Given the description of an element on the screen output the (x, y) to click on. 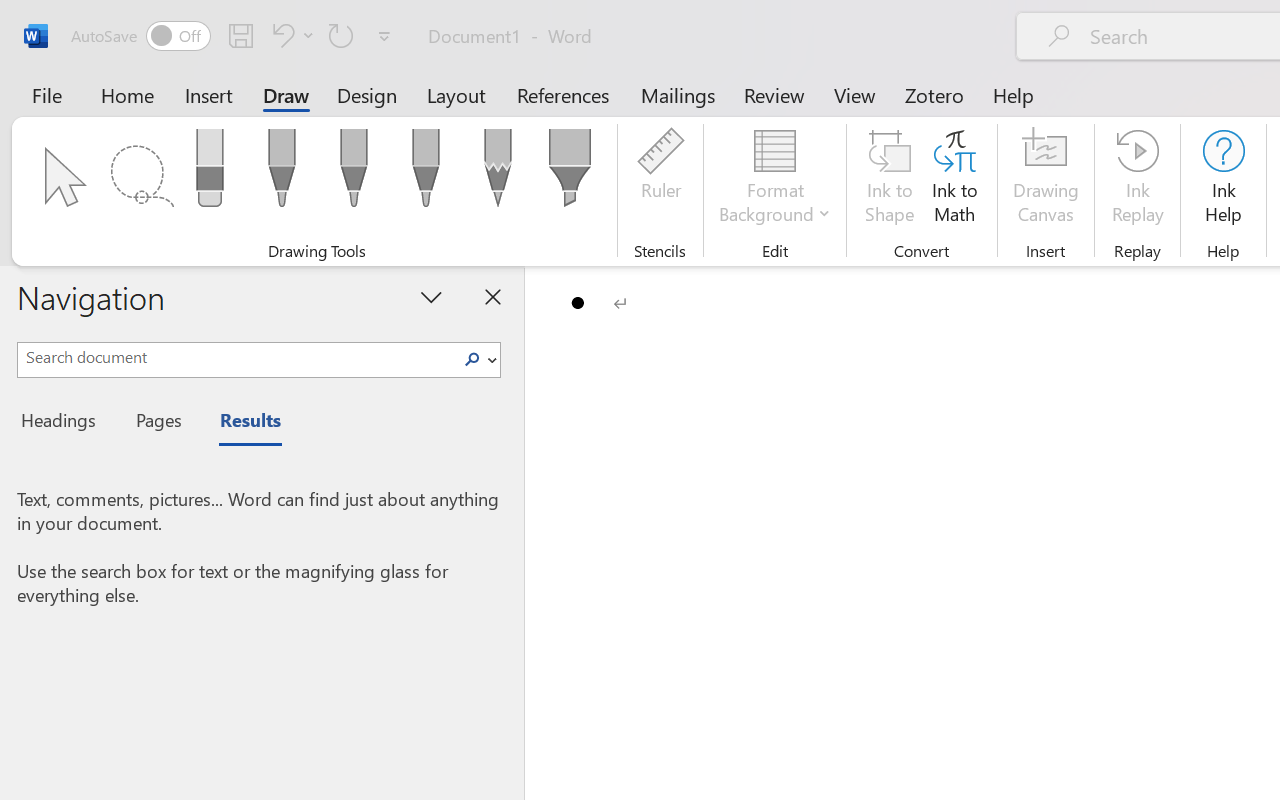
Ink Help (1223, 179)
Headings (64, 423)
Undo Bullet Default (280, 35)
Pencil: Gray, 1 mm (497, 173)
Highlighter: Yellow, 6 mm (569, 173)
Pages (156, 423)
Pen: Black, 0.5 mm (281, 173)
Ink to Shape (889, 179)
